Given the description of an element on the screen output the (x, y) to click on. 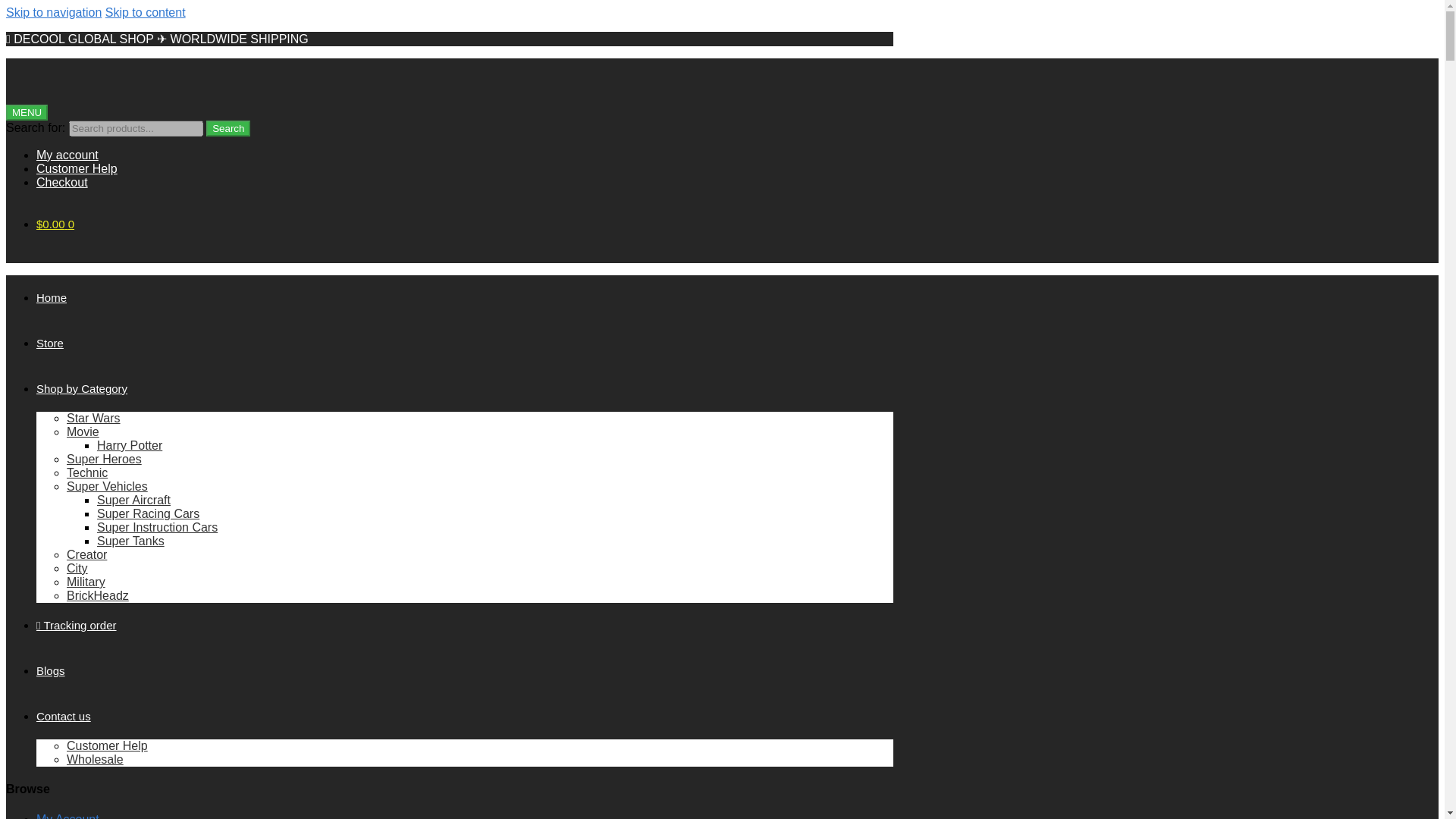
Technic (86, 472)
Harry Potter (129, 445)
Search (228, 128)
Movie (82, 431)
Super Tanks (130, 540)
Skip to content (145, 11)
Super Instruction Cars (156, 526)
Super Vehicles (107, 486)
Customer Help (464, 169)
BrickHeadz (97, 594)
